Given the description of an element on the screen output the (x, y) to click on. 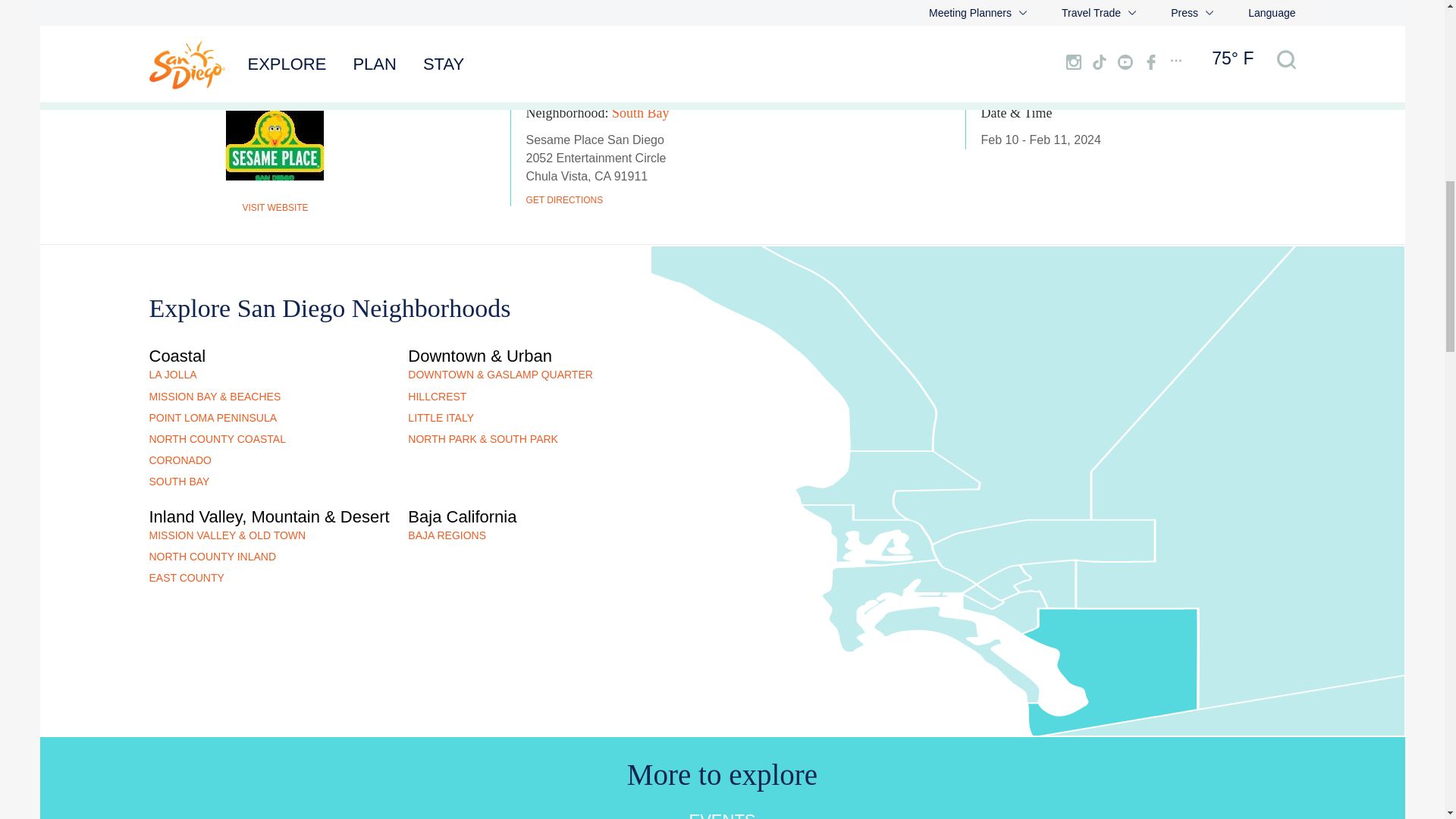
South Bay (640, 113)
